Given the description of an element on the screen output the (x, y) to click on. 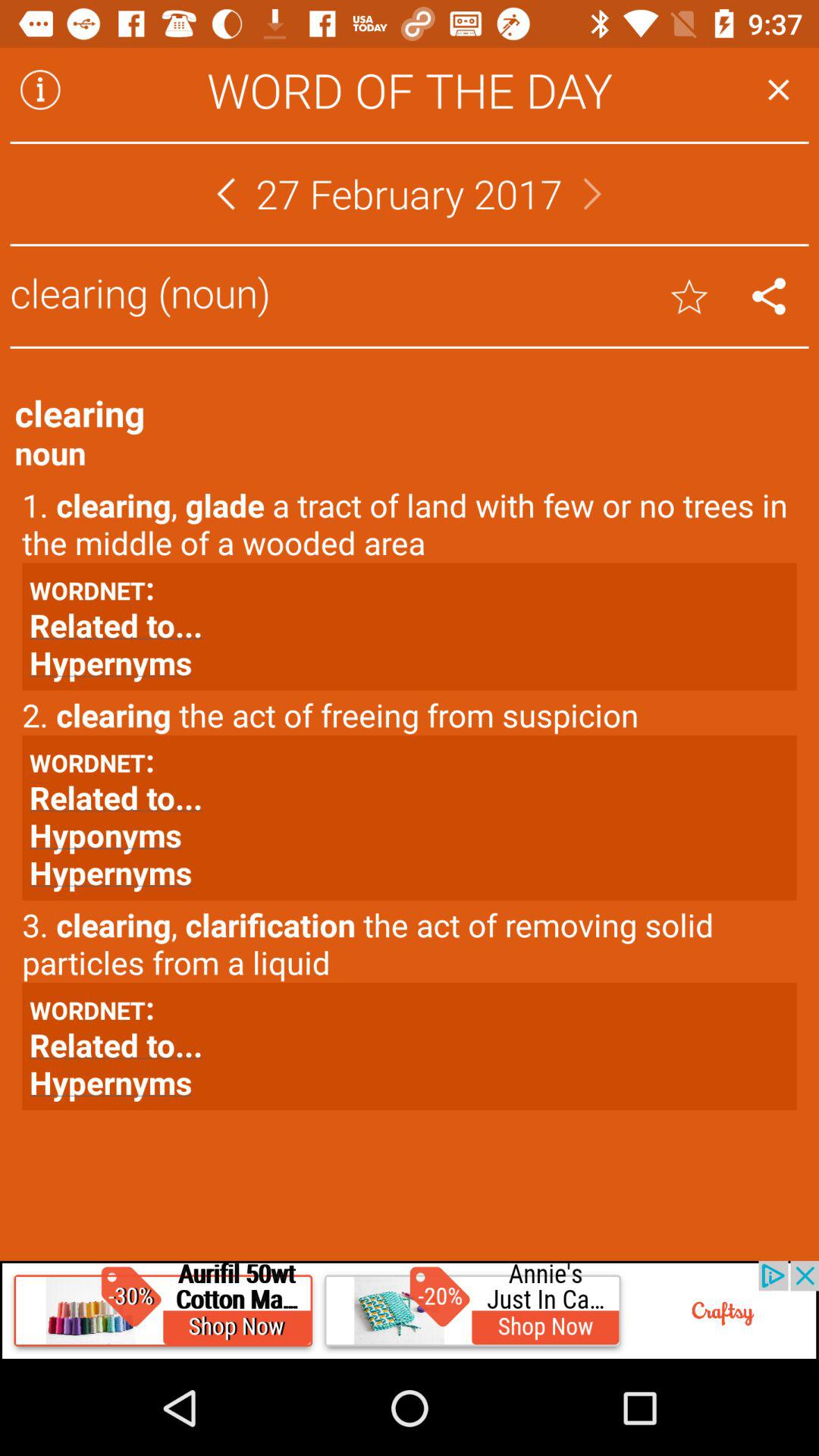
go to previous (225, 193)
